Given the description of an element on the screen output the (x, y) to click on. 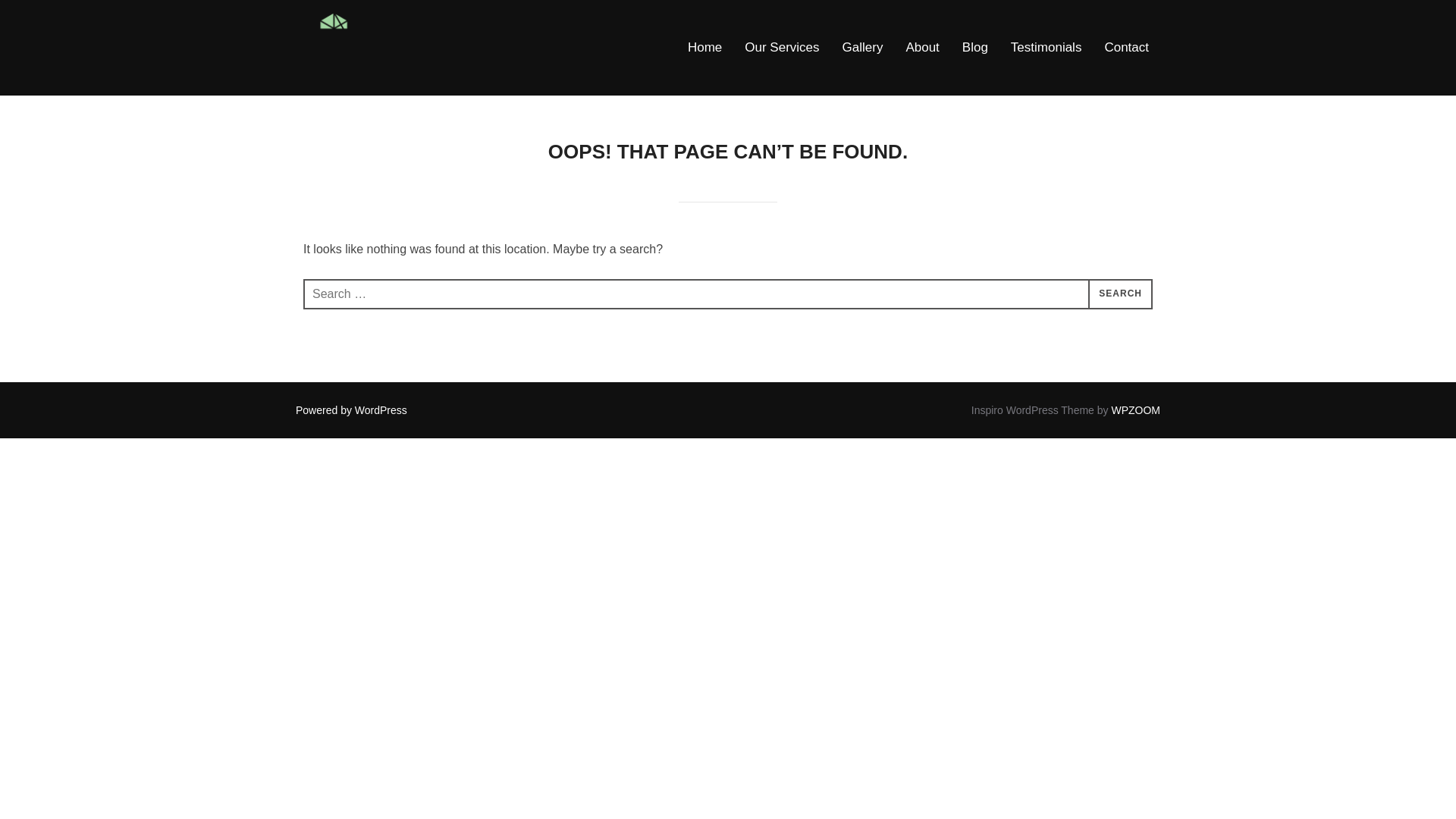
Powered by WordPress (351, 410)
Contact (1125, 47)
Gallery (863, 47)
Home (704, 47)
About (922, 47)
WPZOOM (1135, 410)
SEARCH (1120, 294)
Testimonials (1045, 47)
Blog (975, 47)
Our Services (781, 47)
